Given the description of an element on the screen output the (x, y) to click on. 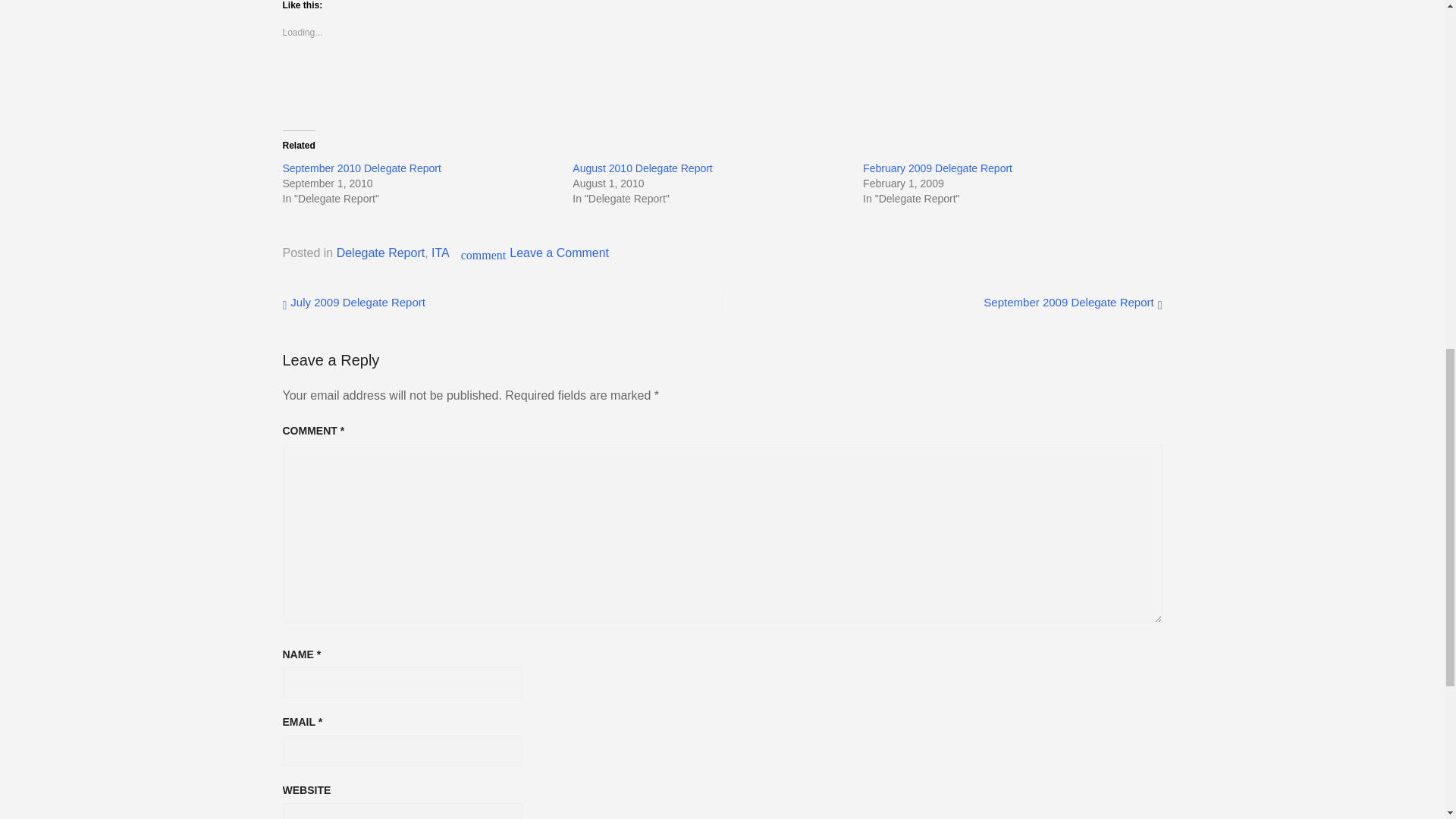
September 2010 Delegate Report (361, 168)
Like or Reblog (721, 82)
August 2010 Delegate Report (641, 168)
February 2009 Delegate Report (937, 168)
